Given the description of an element on the screen output the (x, y) to click on. 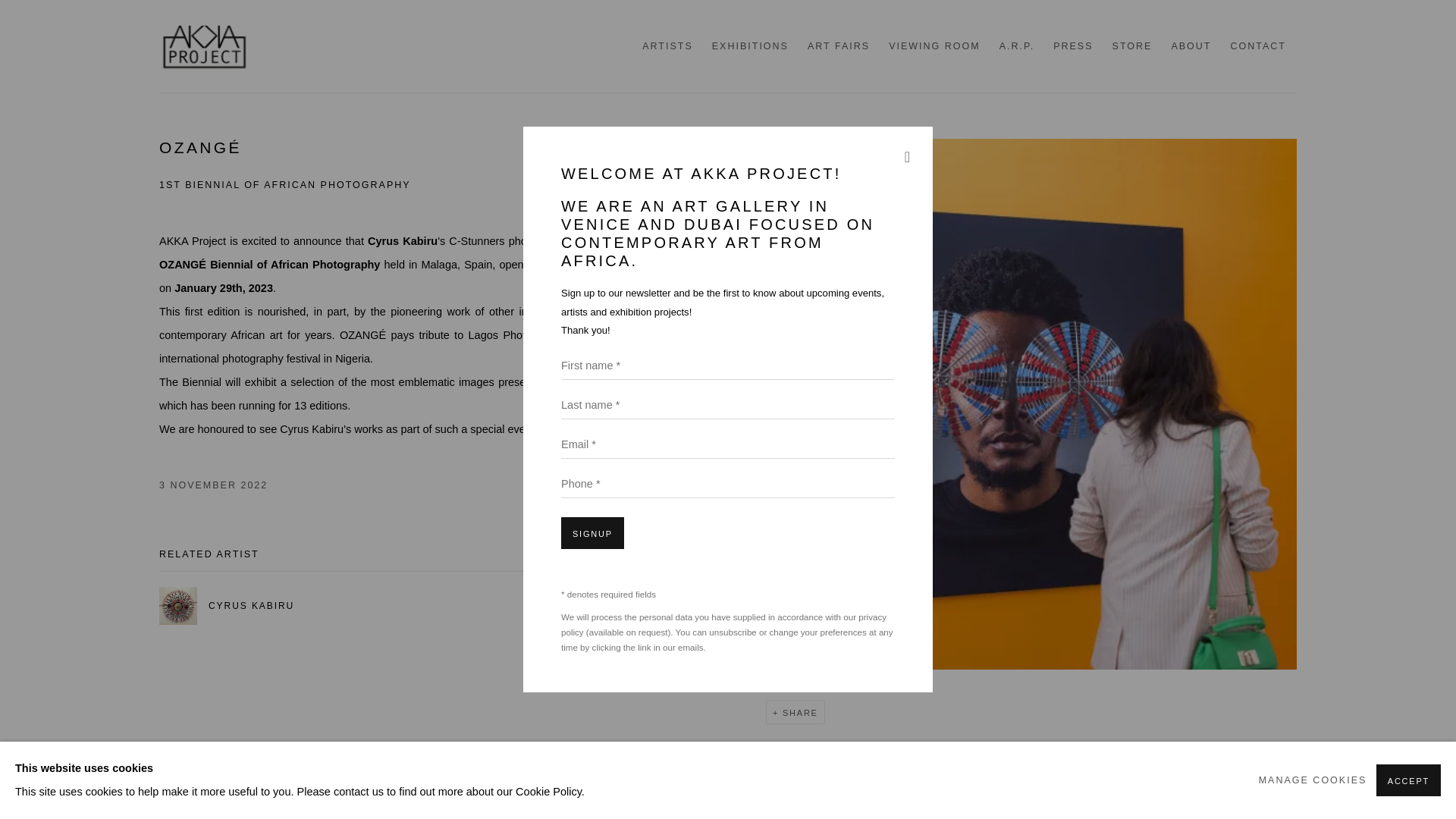
VIEWING ROOM (933, 45)
CONTACT (1257, 45)
vimeo-player (727, 794)
PRESS (1072, 45)
ART FAIRS (838, 45)
ABOUT (1190, 45)
EXHIBITIONS (750, 45)
ACCEPT (1408, 780)
ARTISTS (667, 45)
A.R.P. (1016, 45)
STORE (1132, 45)
Go (6, 5)
CYRUS KABIRU (285, 605)
AKKA PROJECT (204, 46)
MANAGE COOKIES (1313, 780)
